Given the description of an element on the screen output the (x, y) to click on. 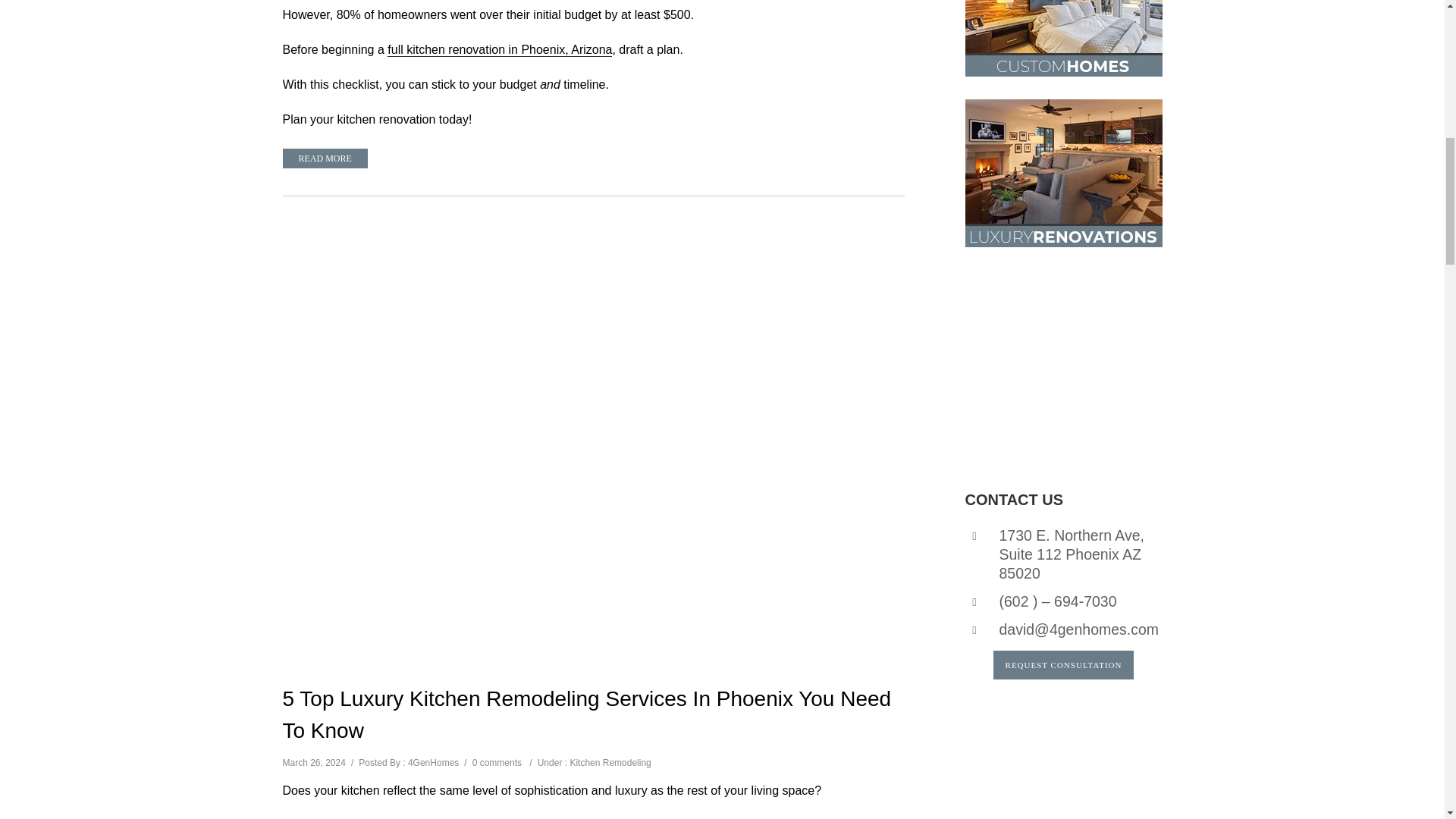
full kitchen renovation in Phoenix, Arizona (499, 49)
0 comments (496, 762)
READ MORE (324, 158)
Kitchen Remodeling (609, 762)
View all posts in Kitchen Remodeling (609, 762)
